Given the description of an element on the screen output the (x, y) to click on. 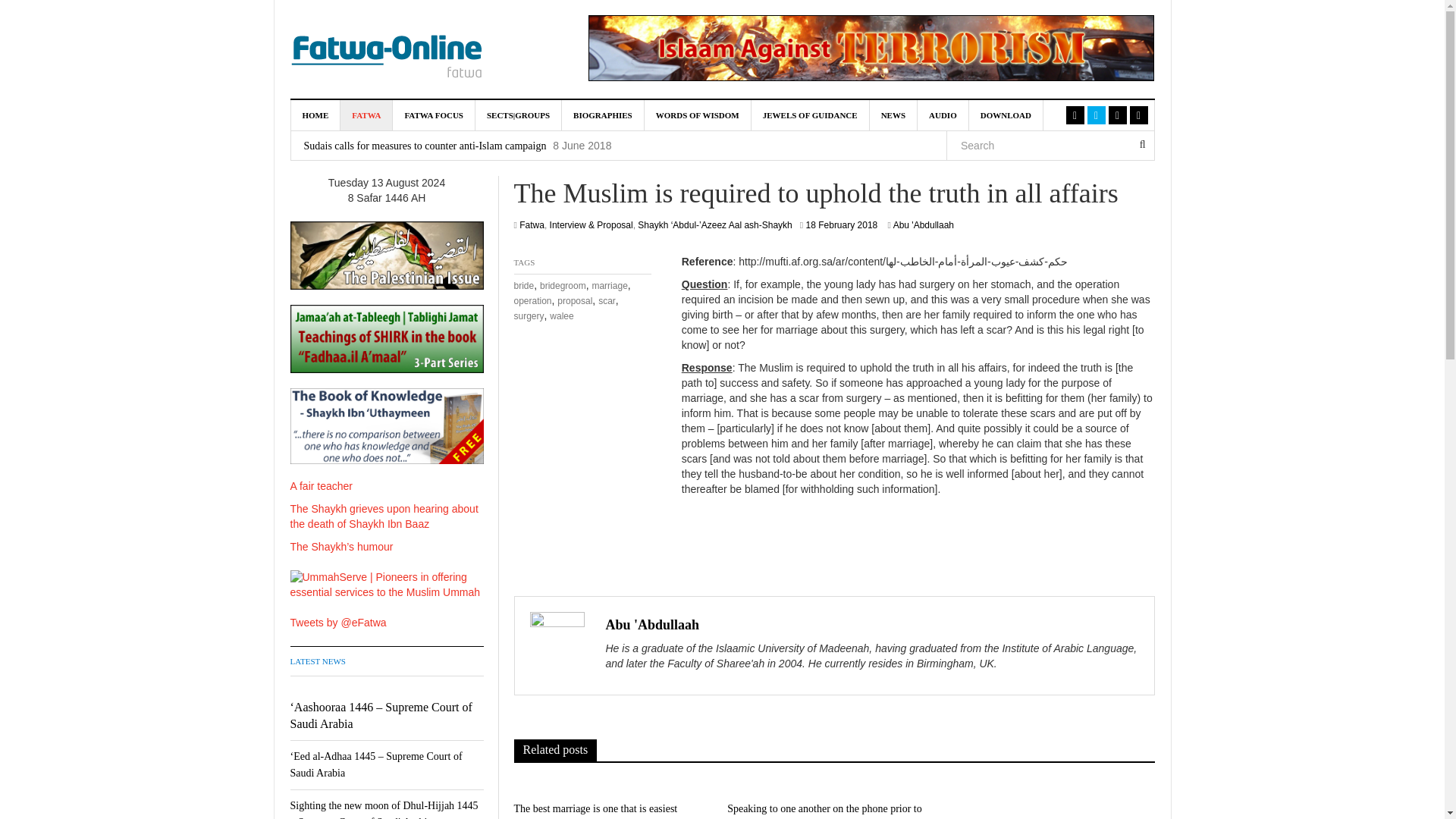
HOME (315, 114)
The Book of Knowledge (386, 426)
Permalink to The best marriage is one that is easiest (595, 808)
Islaam Against Terrorism (871, 48)
FATWA (366, 114)
Posts by Abu 'Abdullaah (651, 624)
